Given the description of an element on the screen output the (x, y) to click on. 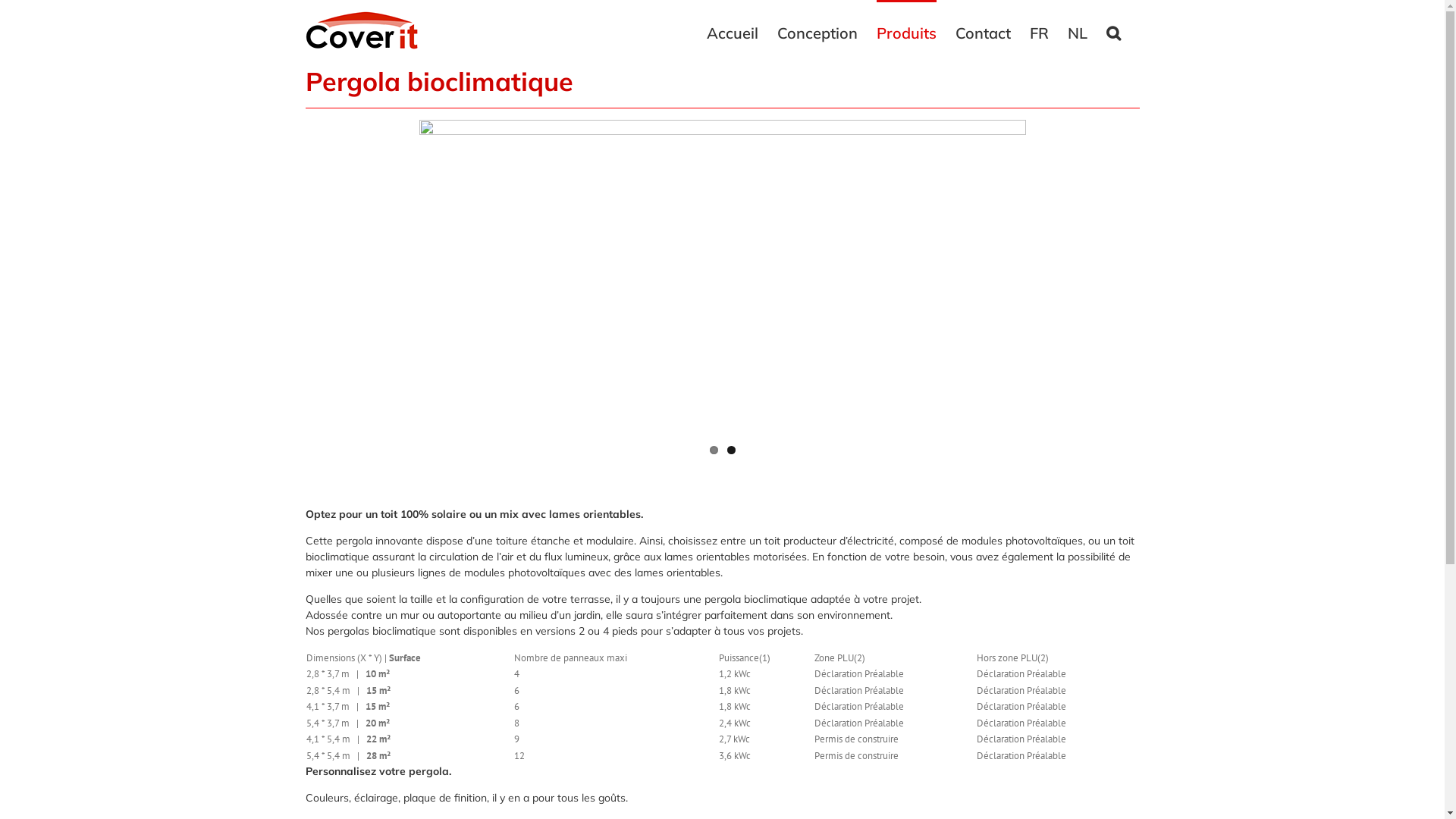
Accueil Element type: text (732, 31)
Search Element type: hover (1112, 31)
2 Element type: text (730, 449)
Produits Element type: text (906, 31)
1 Element type: text (713, 449)
Conception Element type: text (816, 31)
Contact Element type: text (982, 31)
NL Element type: text (1077, 31)
FR Element type: text (1038, 31)
